Given the description of an element on the screen output the (x, y) to click on. 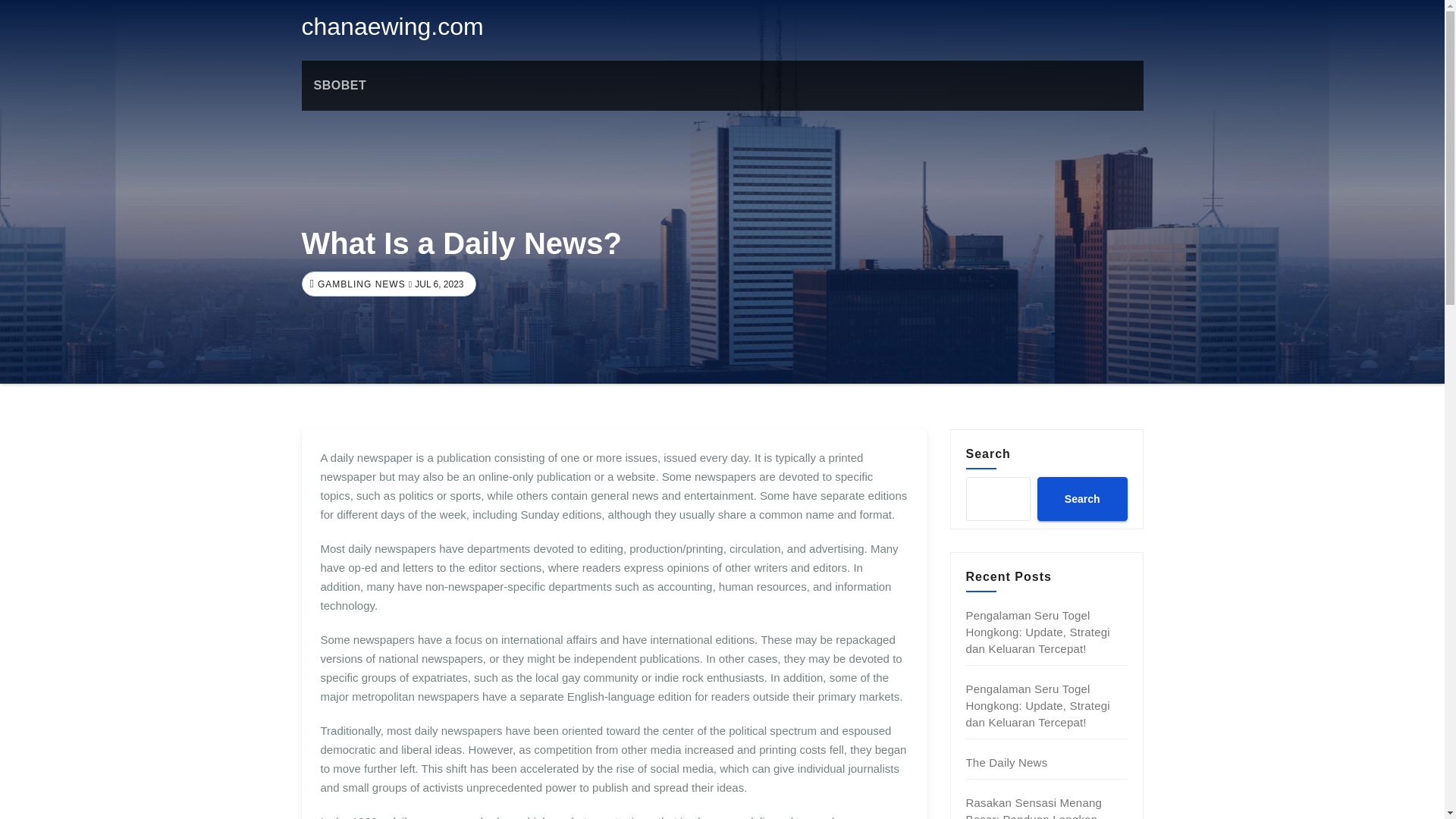
The Daily News (1007, 762)
SBOBET (339, 85)
Search (1081, 498)
SBOBET (339, 85)
GAMBLING NEWS (360, 284)
chanaewing.com (392, 26)
